Given the description of an element on the screen output the (x, y) to click on. 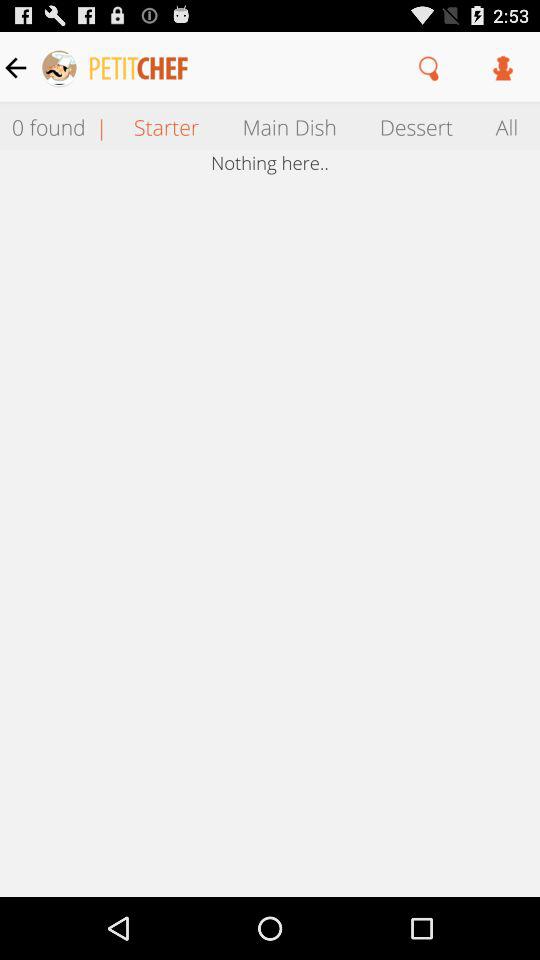
turn on the item next to main dish (166, 126)
